Given the description of an element on the screen output the (x, y) to click on. 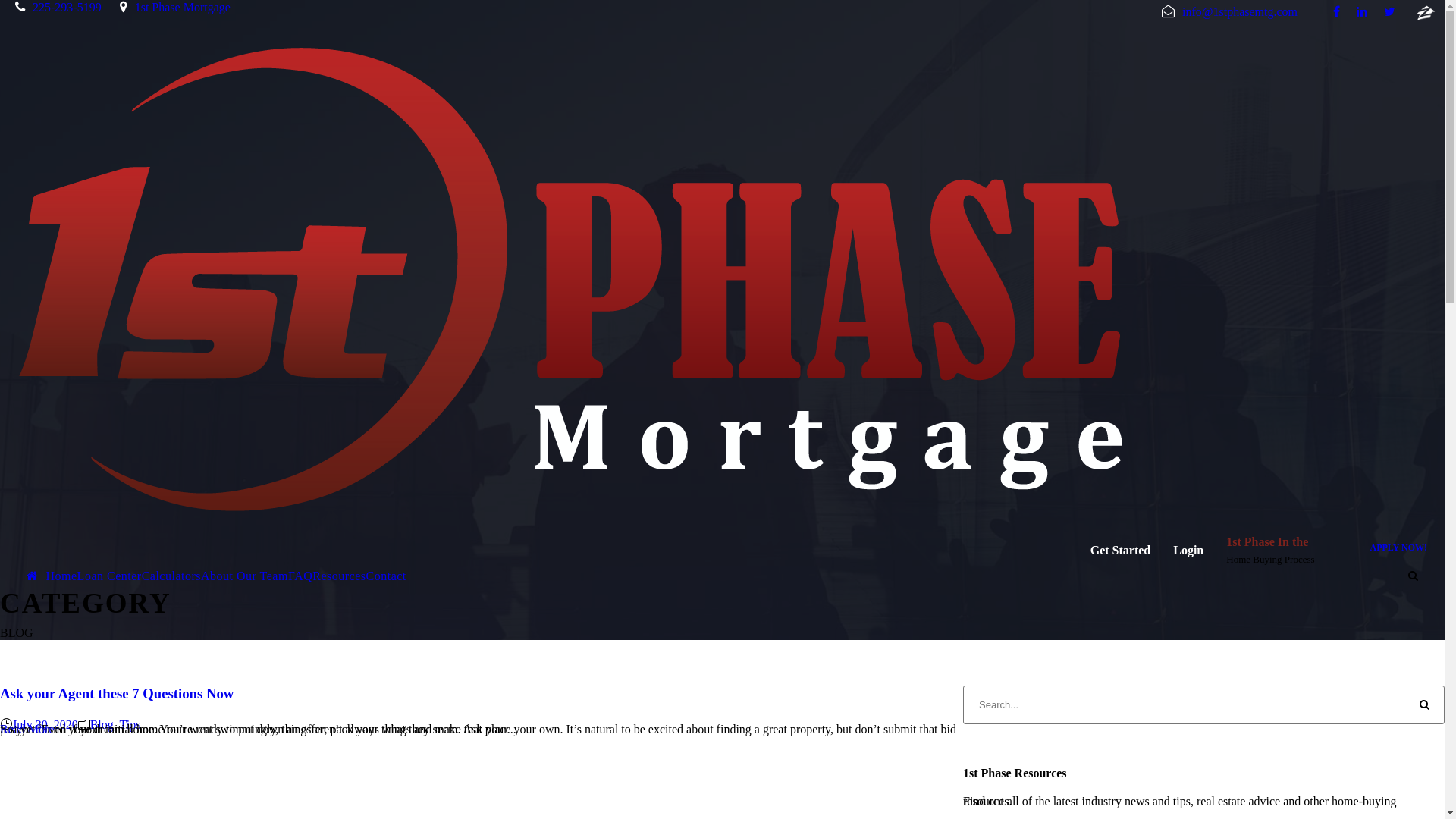
linkedin Element type: hover (1361, 11)
July 30, 2020 Element type: text (45, 724)
Contact Element type: text (386, 575)
twitter Element type: hover (1425, 11)
facebook Element type: hover (1336, 11)
Loan Center Element type: text (109, 575)
Blog Element type: text (101, 724)
1stPhase-logo-white-01 Element type: hover (577, 281)
Read More Element type: text (27, 728)
About Our Team Element type: text (244, 575)
info@1stphasemtg.com Element type: text (1221, 11)
Get Started Element type: text (1120, 549)
225-293-5199 Element type: text (50, 6)
Home Element type: text (51, 575)
Resources Element type: text (338, 575)
Calculators Element type: text (170, 575)
twitter Element type: hover (1389, 11)
Search Element type: text (1424, 704)
APPLY NOW! Element type: text (1398, 547)
FAQ Element type: text (300, 575)
Tips Element type: text (130, 724)
Login Element type: text (1188, 549)
1st Phase Mortgage Element type: text (182, 6)
Ask your Agent these 7 Questions Now Element type: text (116, 693)
